Given the description of an element on the screen output the (x, y) to click on. 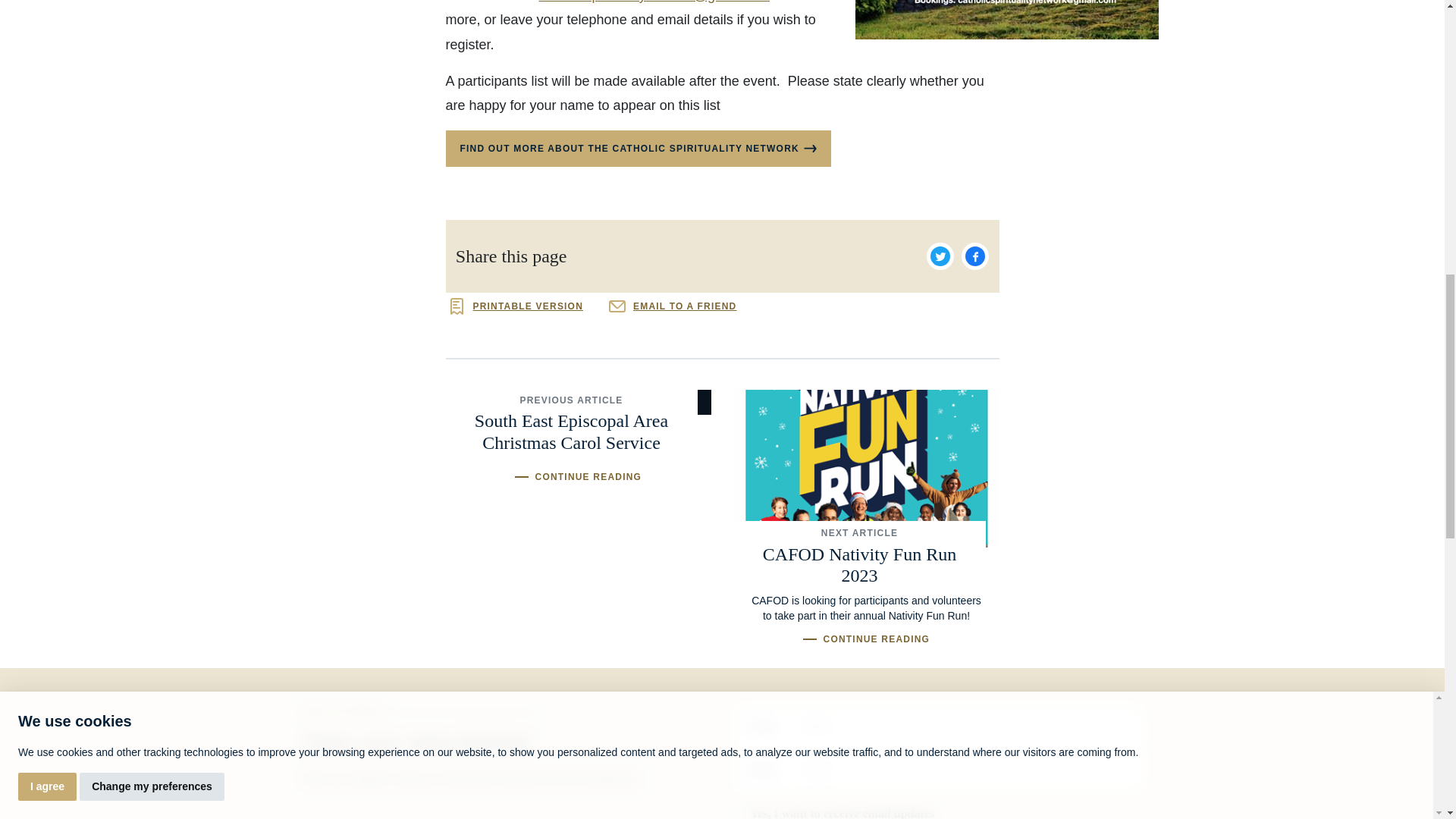
on (738, 812)
